Given the description of an element on the screen output the (x, y) to click on. 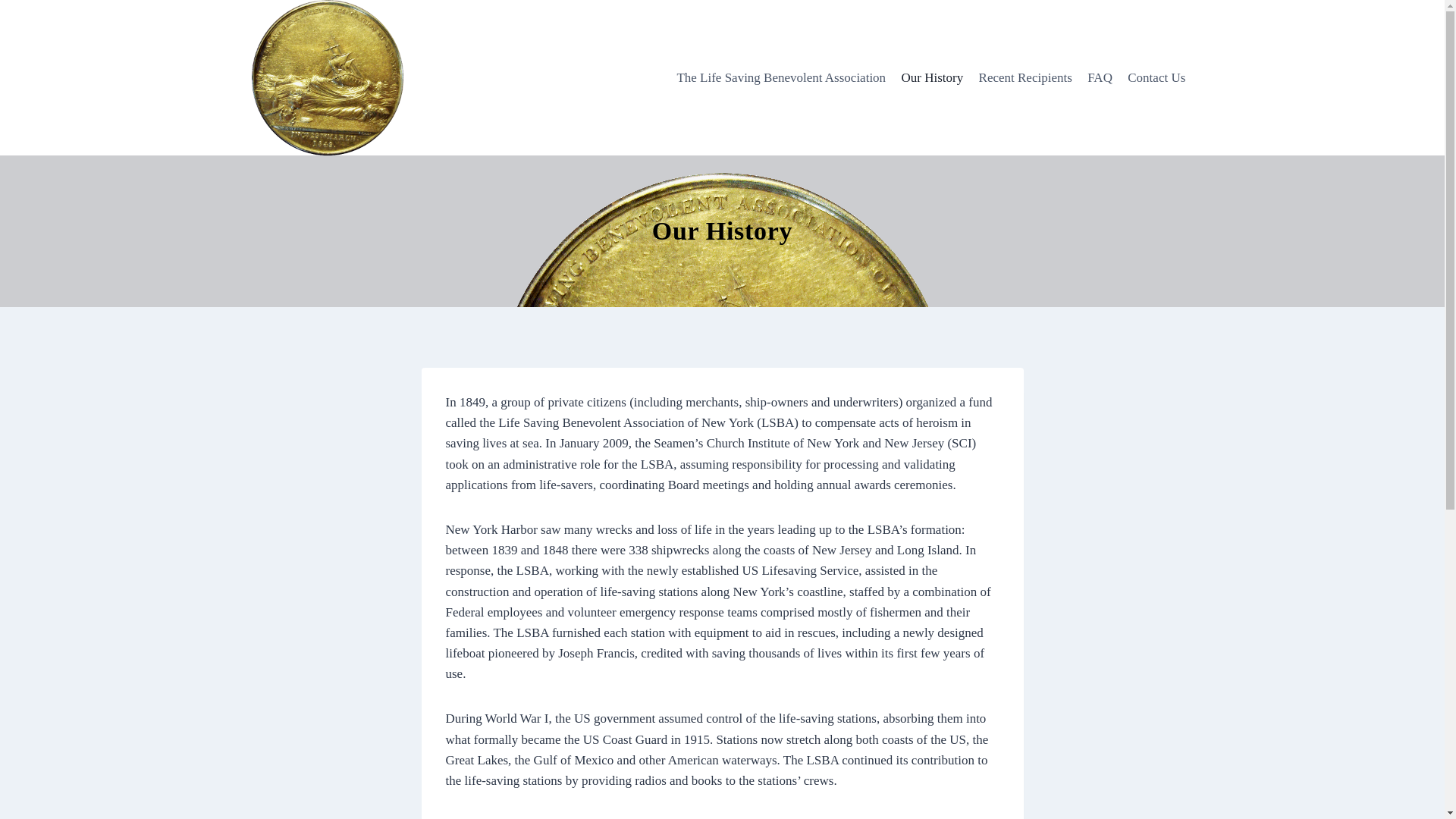
FAQ (1099, 77)
Recent Recipients (1025, 77)
The Life Saving Benevolent Association (780, 77)
Our History (932, 77)
Contact Us (1155, 77)
